Given the description of an element on the screen output the (x, y) to click on. 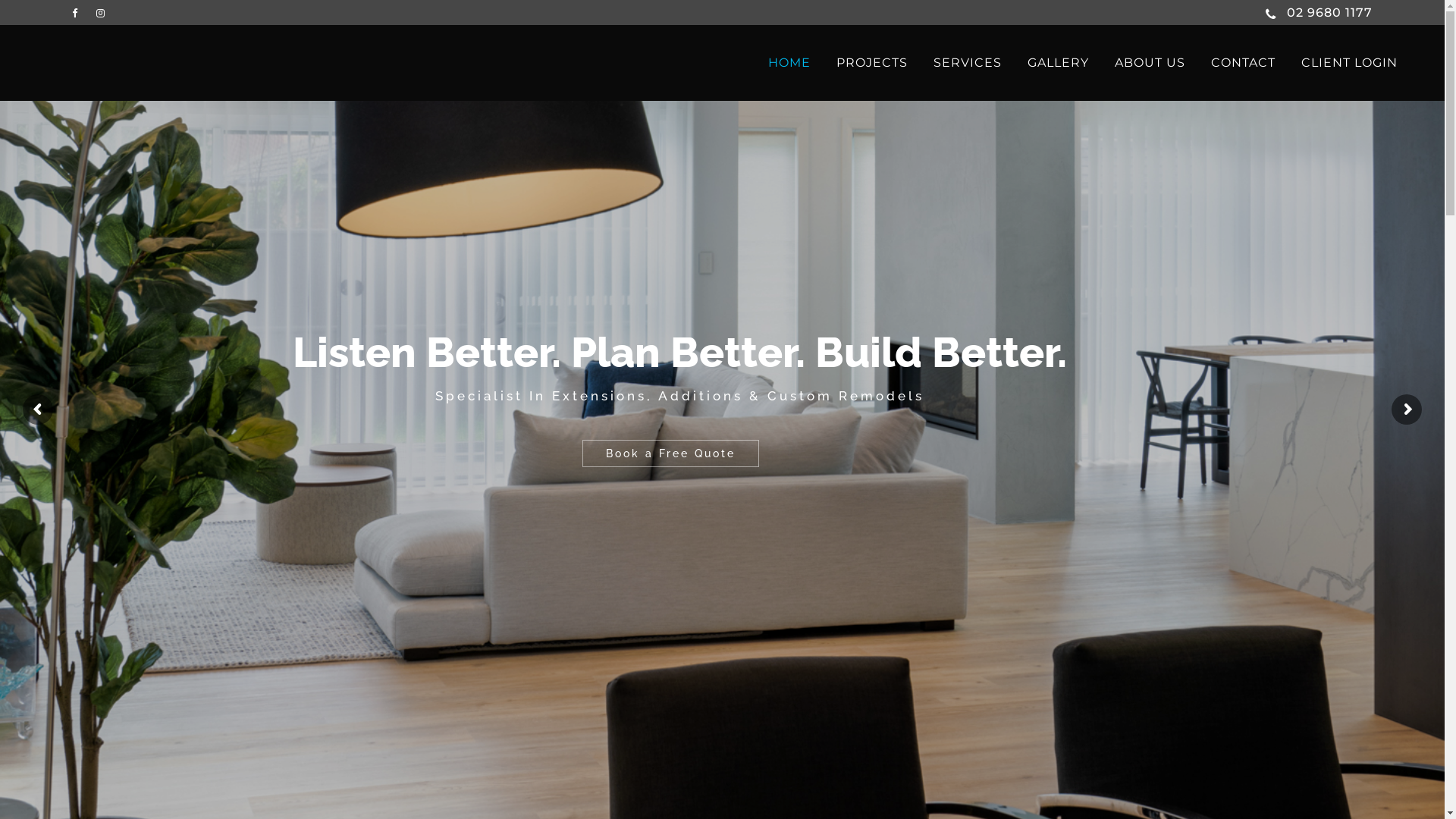
CLIENT LOGIN Element type: text (1349, 62)
ABOUT US Element type: text (1149, 62)
CONTACT Element type: text (1243, 62)
GALLERY Element type: text (1057, 62)
PROJECTS Element type: text (871, 62)
SERVICES Element type: text (967, 62)
HOME Element type: text (789, 62)
